Given the description of an element on the screen output the (x, y) to click on. 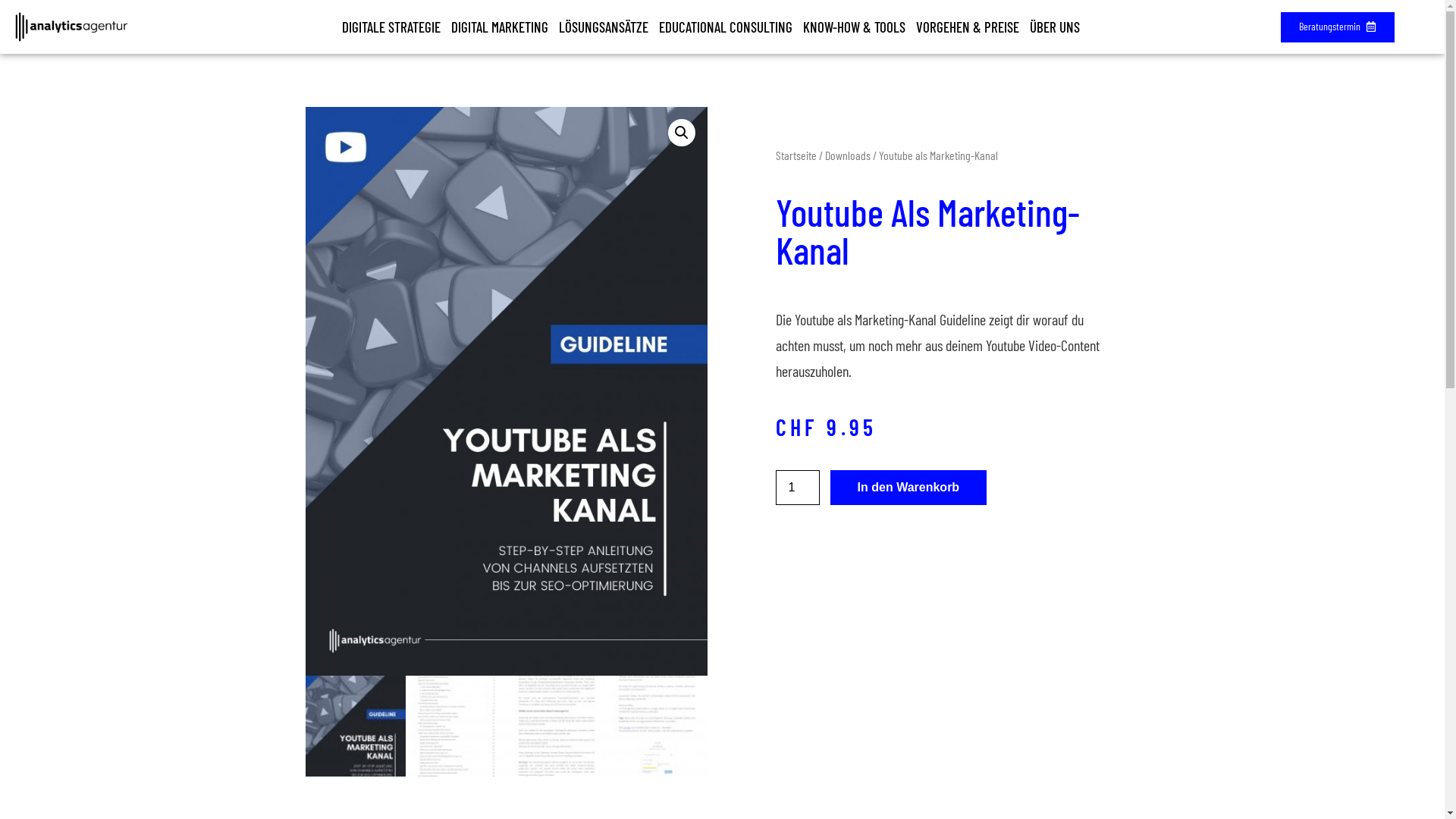
In den Warenkorb Element type: text (908, 487)
DIGITALE STRATEGIE Element type: text (390, 26)
Downloads Element type: text (847, 154)
Startseite Element type: text (795, 154)
EDUCATIONAL CONSULTING Element type: text (725, 26)
VORGEHEN & PREISE Element type: text (967, 26)
YouTube als Marketing-Kanal Element type: hover (505, 390)
Beratungstermin Element type: text (1337, 27)
KNOW-HOW & TOOLS Element type: text (853, 26)
DIGITAL MARKETING Element type: text (499, 26)
